Given the description of an element on the screen output the (x, y) to click on. 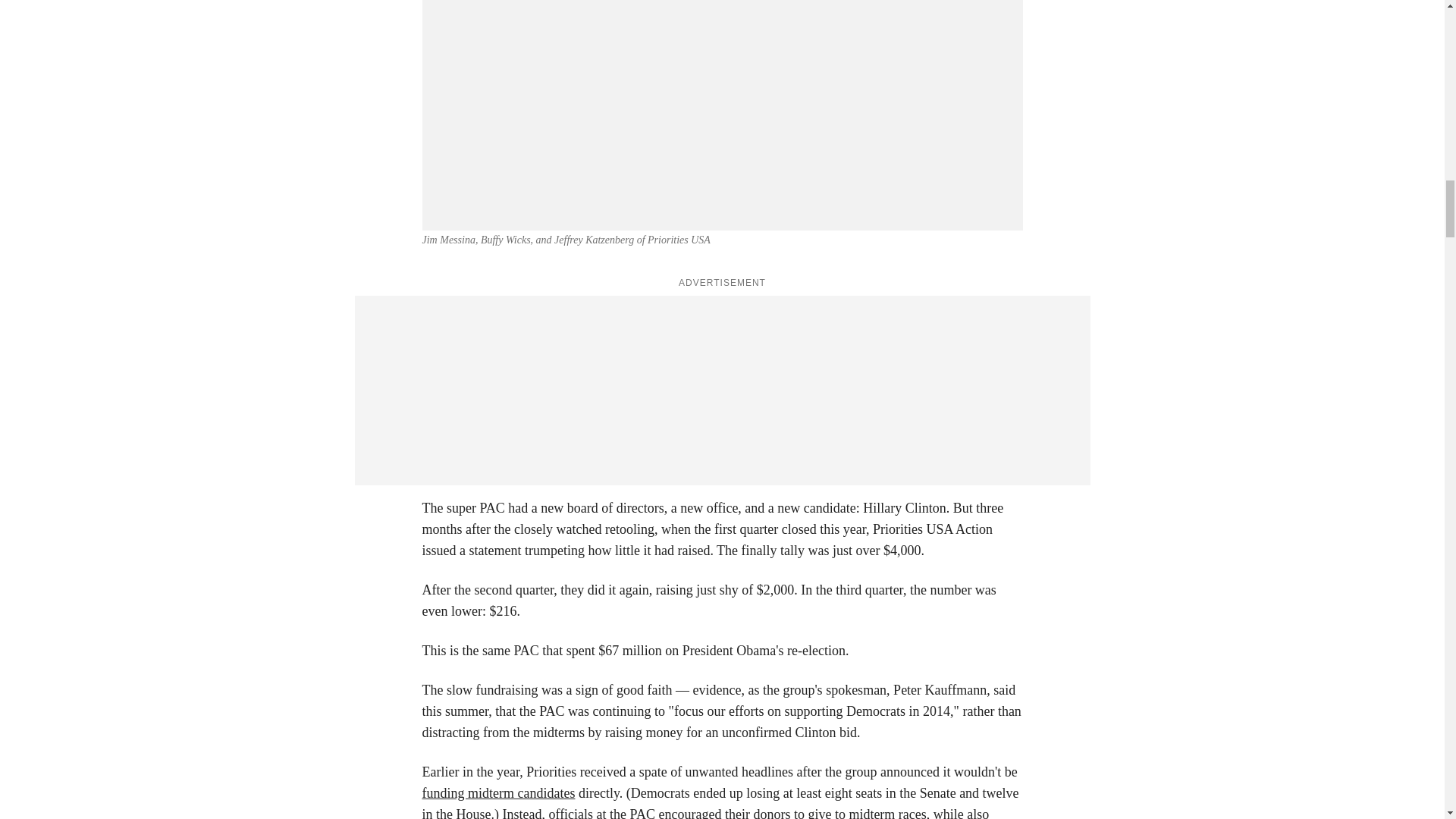
funding midterm candidates (498, 792)
